Given the description of an element on the screen output the (x, y) to click on. 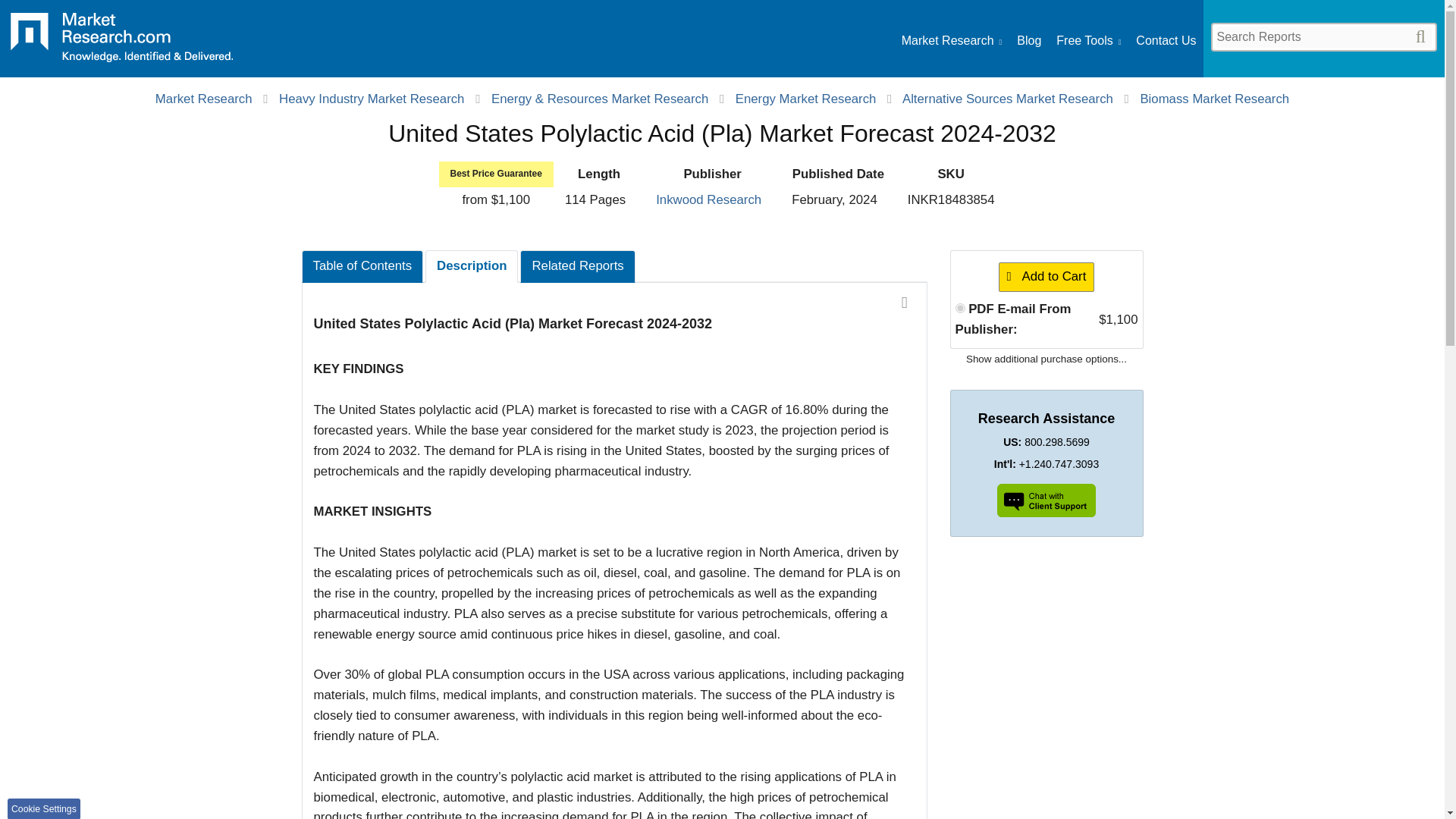
Inkwood Research (708, 199)
Free Tools (1089, 40)
Alternative Sources Market Research (1007, 98)
Table of Contents (362, 266)
Market Research (203, 98)
Get in touch with MarketResearch.com (1165, 40)
Biomass Market Research (1214, 98)
36011031 (960, 307)
Heavy Industry Market Research (371, 98)
Energy Market Research (805, 98)
